Given the description of an element on the screen output the (x, y) to click on. 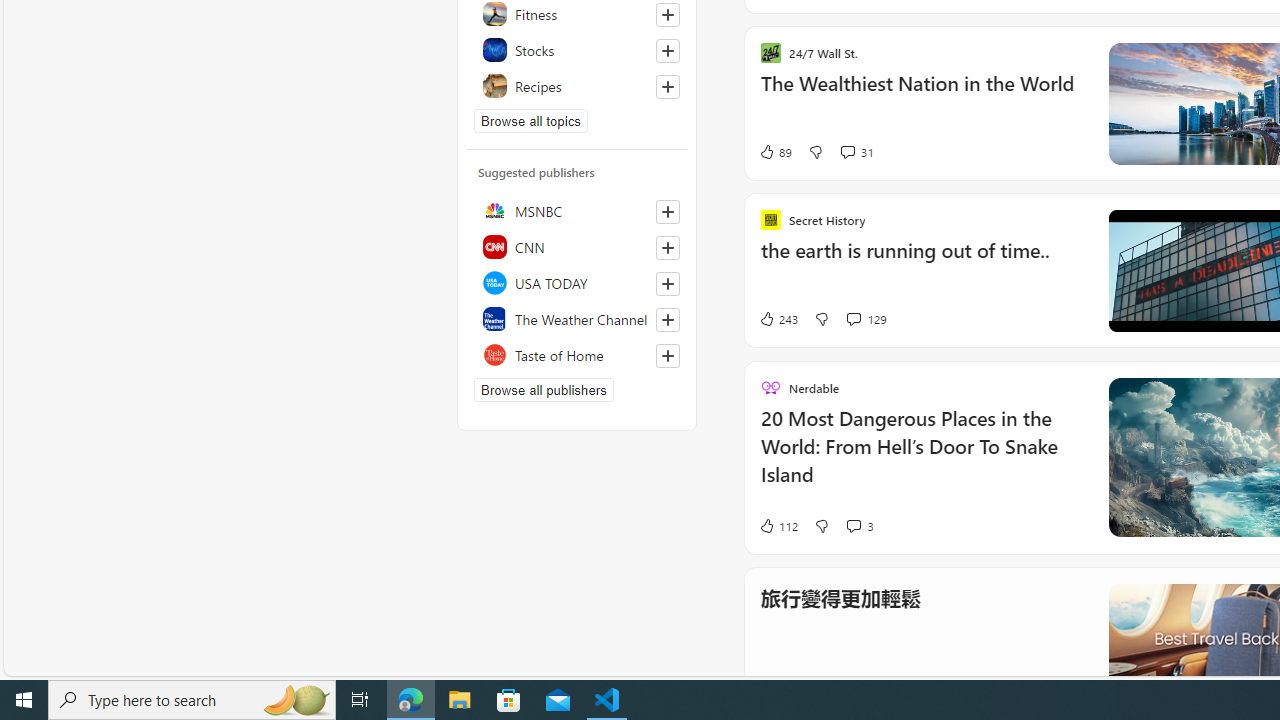
112 Like (778, 524)
Follow this topic (667, 86)
Follow this source (667, 355)
Stocks (577, 49)
89 Like (775, 151)
View comments 31 Comment (847, 152)
Browse all topics (530, 120)
Follow this topic (667, 86)
View comments 31 Comment (855, 151)
Taste of Home (577, 354)
USA TODAY (577, 282)
CNN (577, 246)
View comments 129 Comment (865, 318)
